Given the description of an element on the screen output the (x, y) to click on. 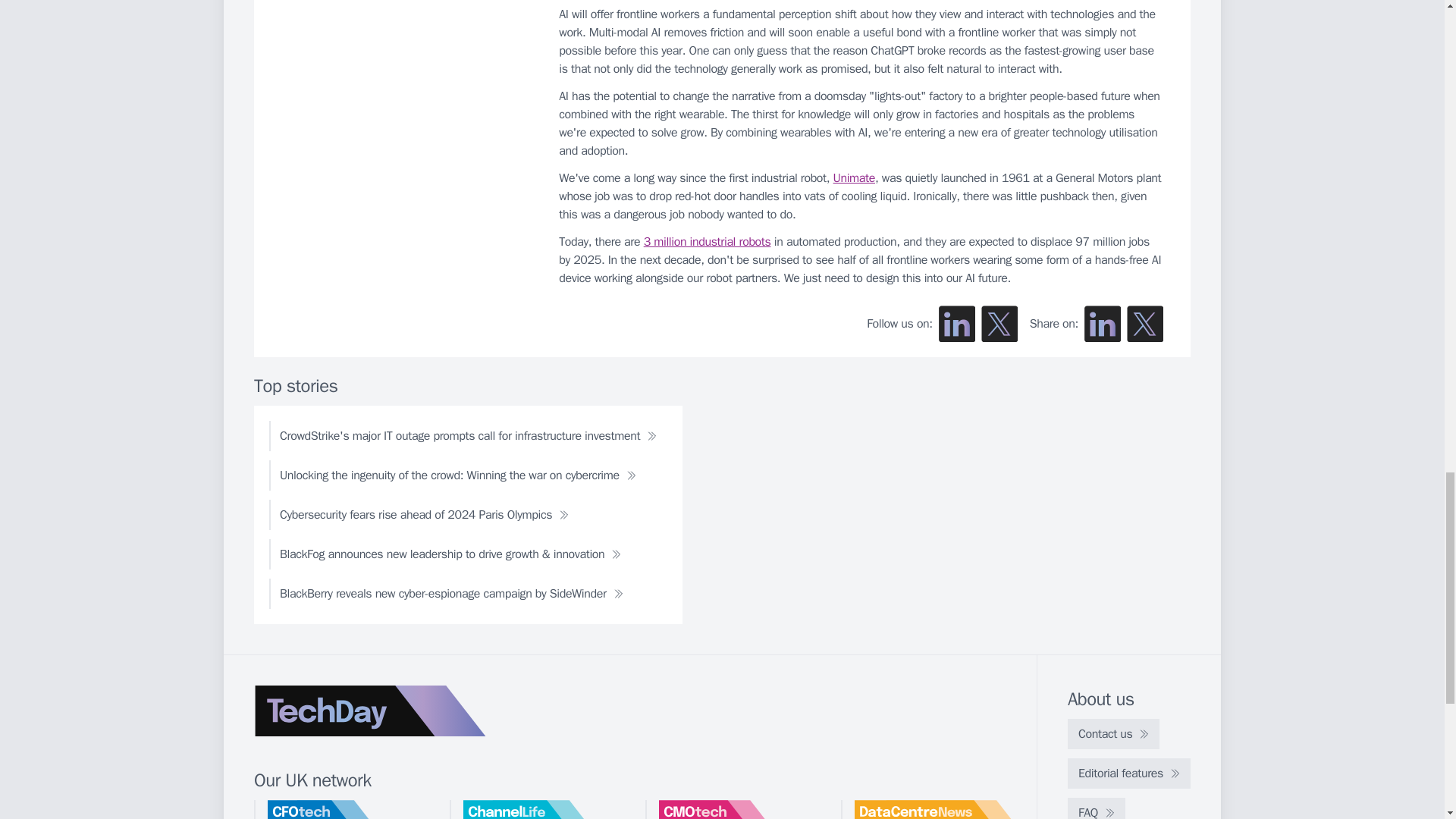
Cybersecurity fears rise ahead of 2024 Paris Olympics (424, 514)
3 million industrial robots (707, 241)
Unimate (853, 177)
